Given the description of an element on the screen output the (x, y) to click on. 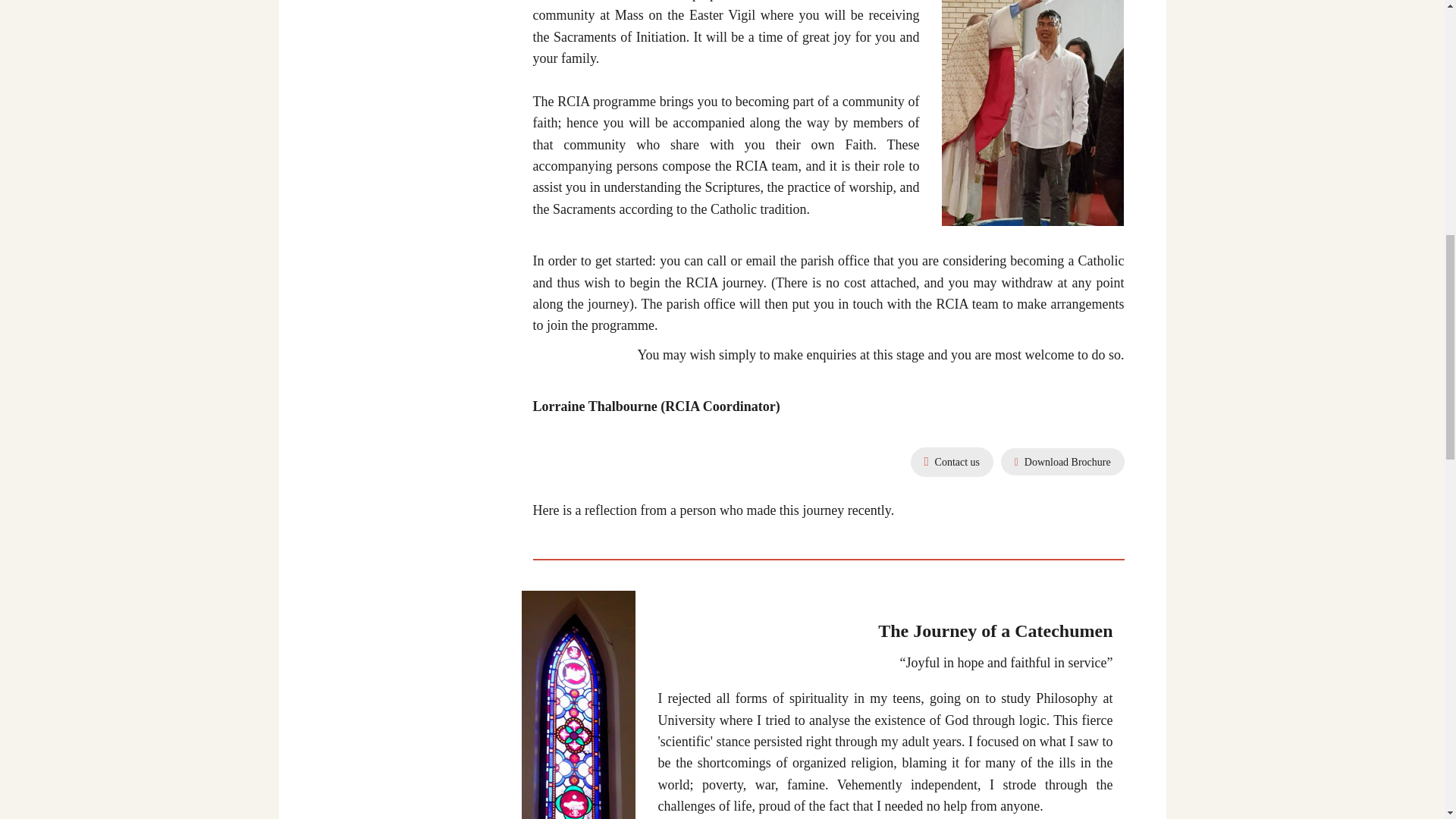
Download Brochure (1062, 461)
Contact us (951, 461)
